Given the description of an element on the screen output the (x, y) to click on. 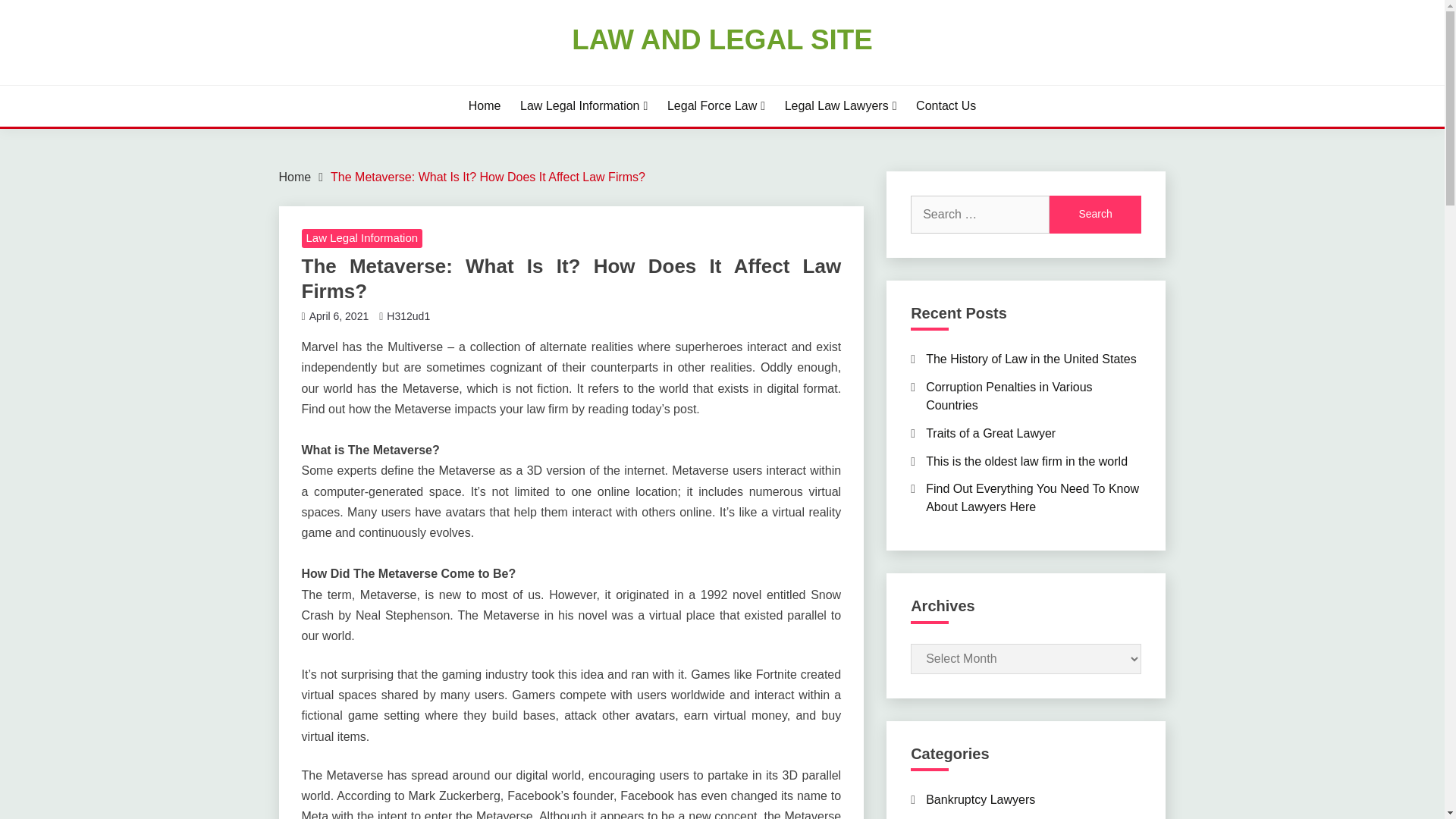
Search (1095, 214)
Contact Us (945, 106)
Home (295, 176)
Legal Law Lawyers (840, 106)
The Metaverse: What Is It? How Does It Affect Law Firms? (487, 176)
H312ud1 (408, 316)
Law Legal Information (362, 238)
Search (1095, 214)
April 6, 2021 (338, 316)
LAW AND LEGAL SITE (722, 39)
Law Legal Information (583, 106)
Legal Force Law (715, 106)
Search (1095, 214)
Home (484, 106)
